Given the description of an element on the screen output the (x, y) to click on. 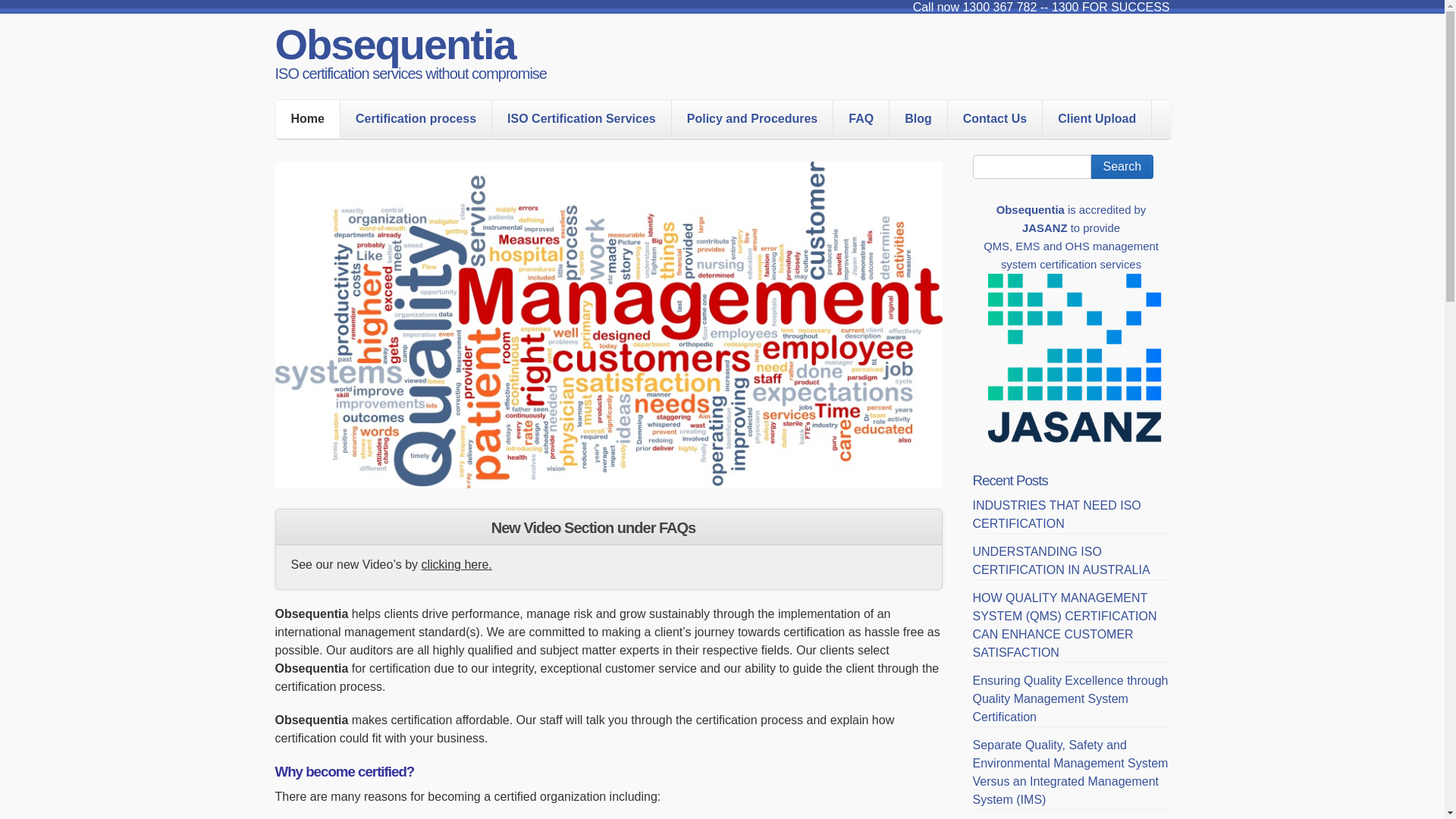
UNDERSTANDING ISO CERTIFICATION IN AUSTRALIA Element type: text (1060, 560)
Blog Element type: text (918, 119)
Contact Us Element type: text (994, 119)
Client Upload Element type: text (1096, 119)
INDUSTRIES THAT NEED ISO CERTIFICATION Element type: text (1056, 514)
ISO Certification Services Element type: text (581, 119)
clicking here. Element type: text (455, 564)
FAQ Element type: text (860, 119)
Obsequentia Element type: text (394, 44)
QMS, EMS and OHS management system certification services Element type: text (1070, 255)
Home Element type: text (307, 119)
JASANZ Element type: text (1044, 228)
Obsequentia Element type: text (1030, 209)
Certification process Element type: text (415, 119)
Policy and Procedures Element type: text (752, 119)
Search Element type: text (1121, 166)
